Given the description of an element on the screen output the (x, y) to click on. 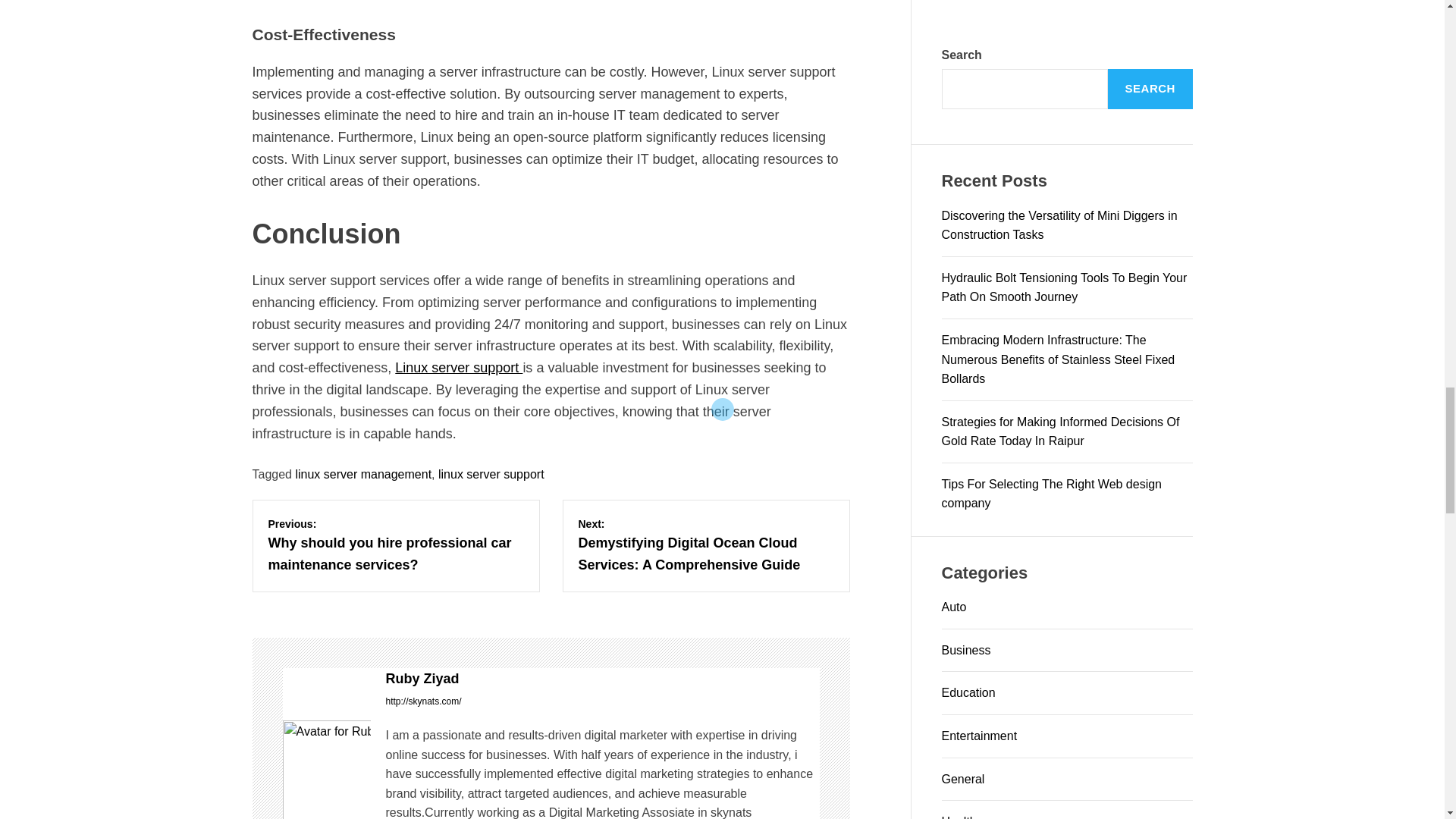
Ruby Ziyad (601, 679)
Ruby Ziyad (325, 769)
Linux server support (458, 367)
linux server management (362, 473)
